Given the description of an element on the screen output the (x, y) to click on. 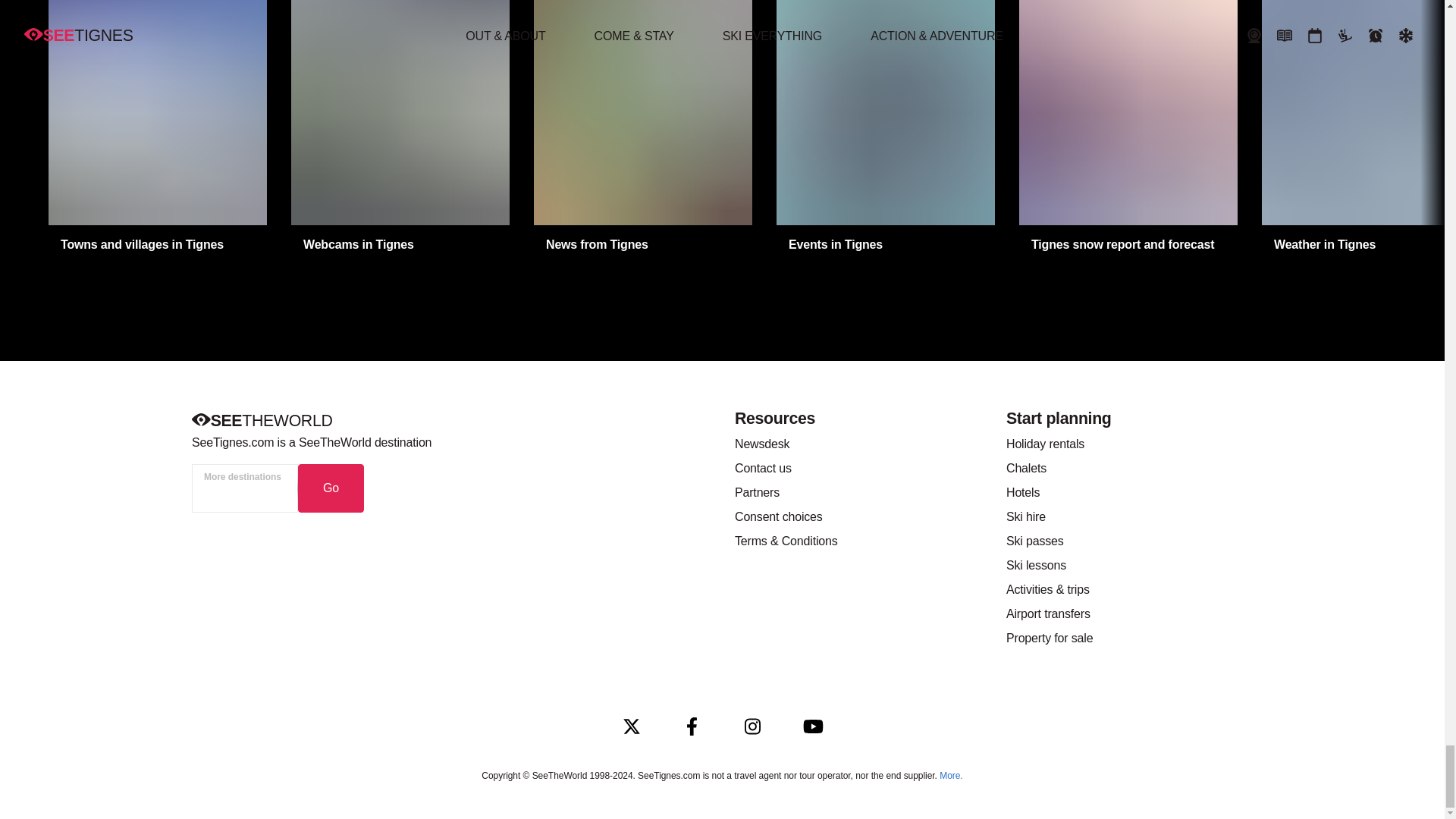
SeeTheWorld.com (260, 421)
Follow SeeTignes.com on YouTube (812, 726)
Follow SeeTignes.com on X (630, 726)
Follow SeeTignes.com on Facebook (691, 726)
Follow SeeTignes.com on Instagram (751, 726)
